Given the description of an element on the screen output the (x, y) to click on. 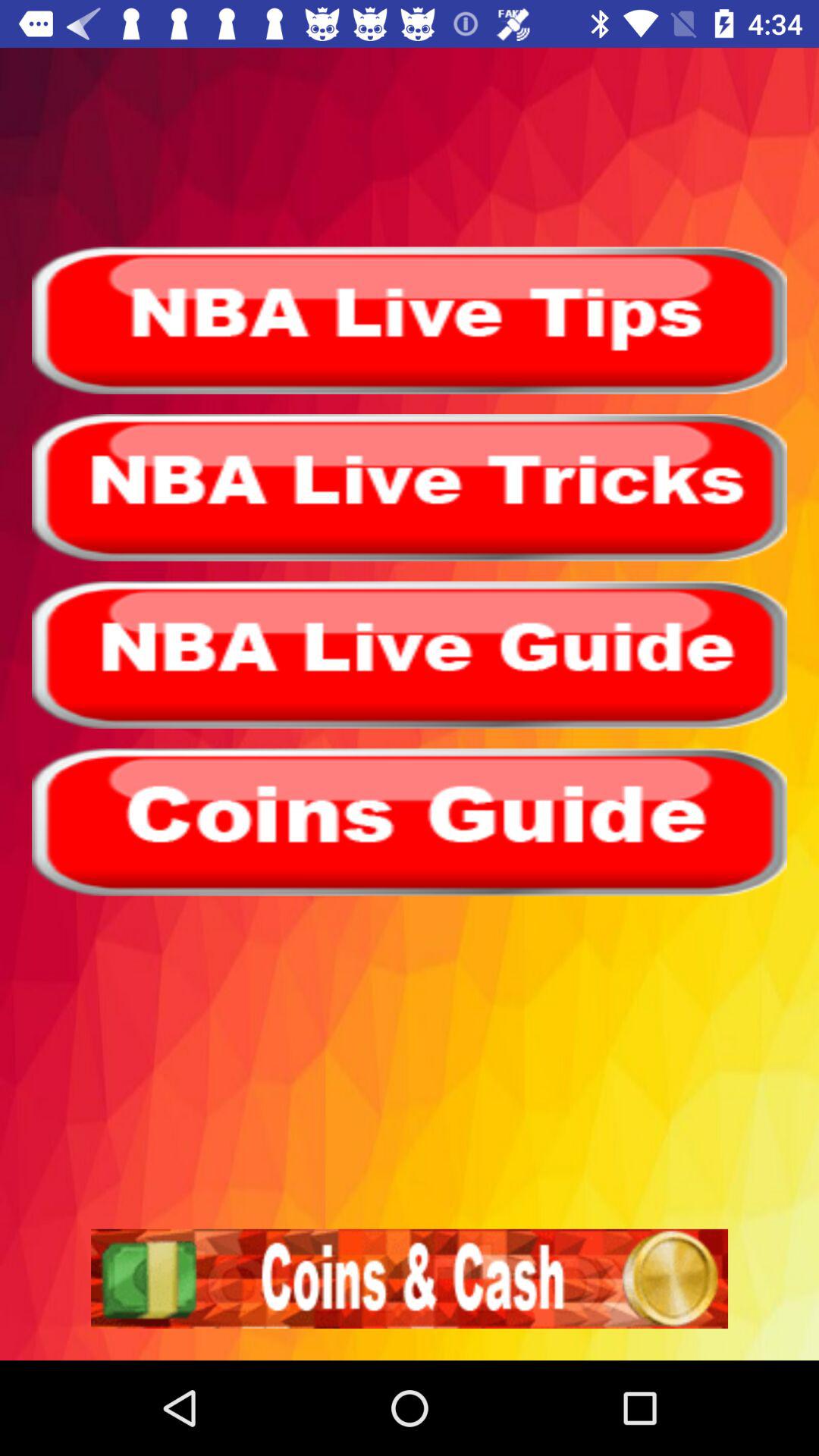
view guide (409, 821)
